Given the description of an element on the screen output the (x, y) to click on. 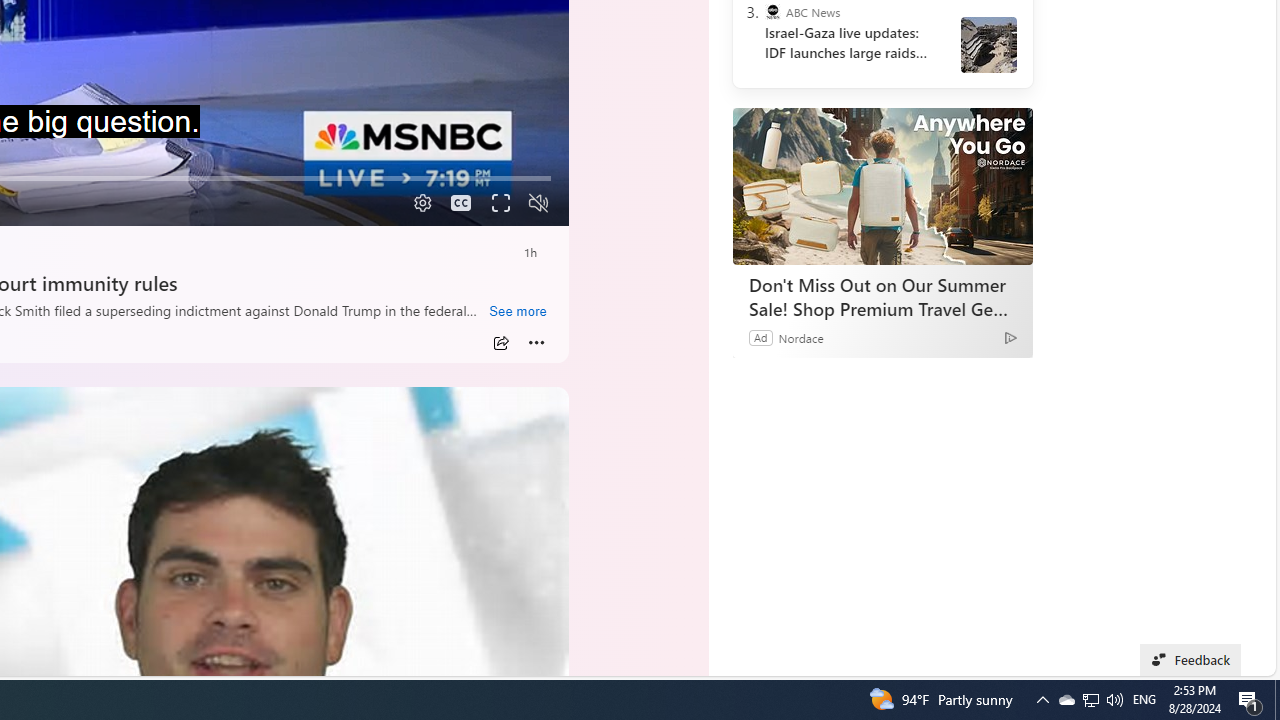
ABC News (772, 12)
Share (501, 343)
See more (517, 312)
Fullscreen (500, 203)
Feedback (1190, 659)
More (536, 343)
More (536, 343)
Captions (461, 203)
Quality Settings (420, 203)
Unmute (538, 203)
Share (501, 343)
